Given the description of an element on the screen output the (x, y) to click on. 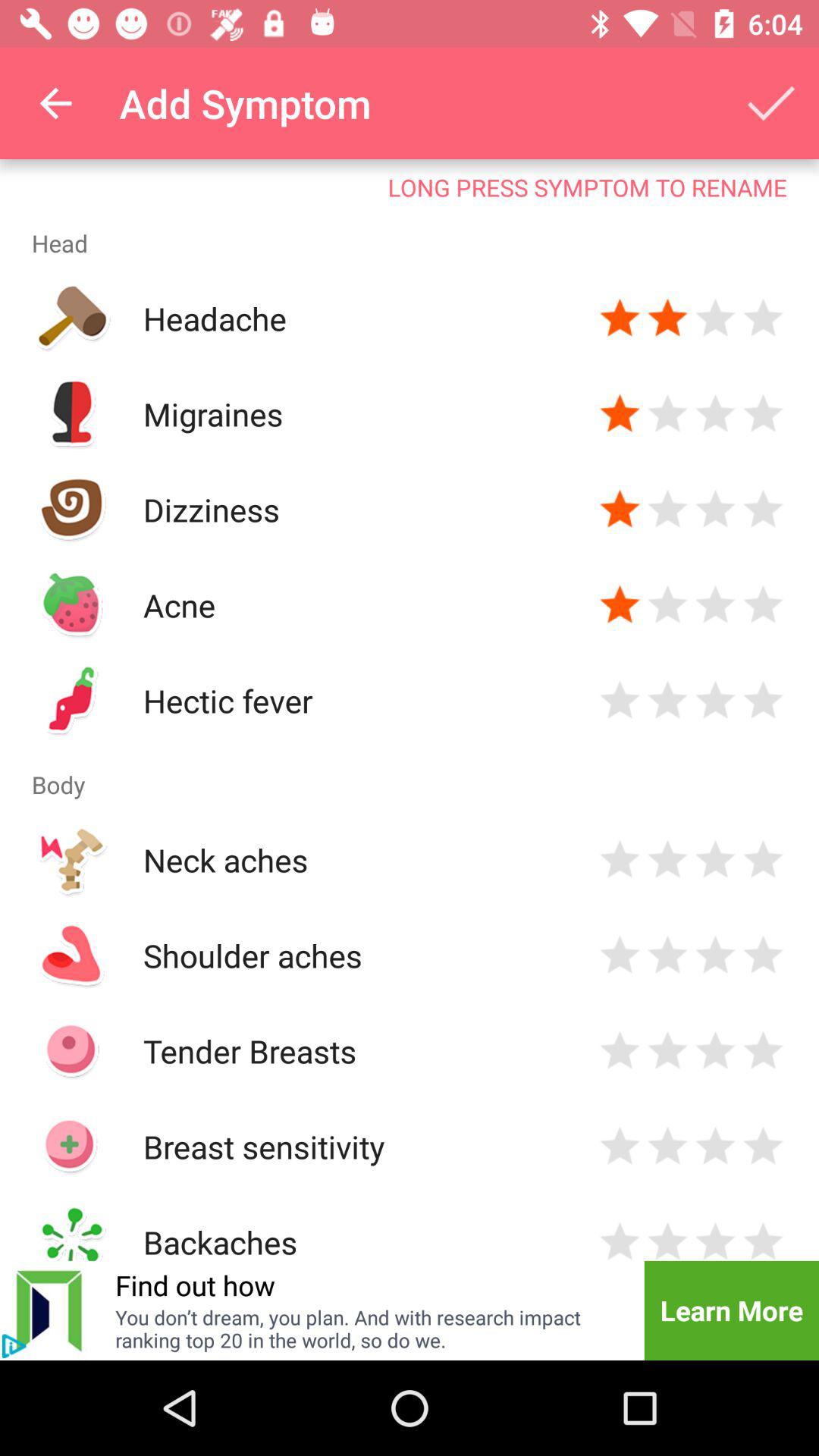
rate four stars (763, 955)
